Given the description of an element on the screen output the (x, y) to click on. 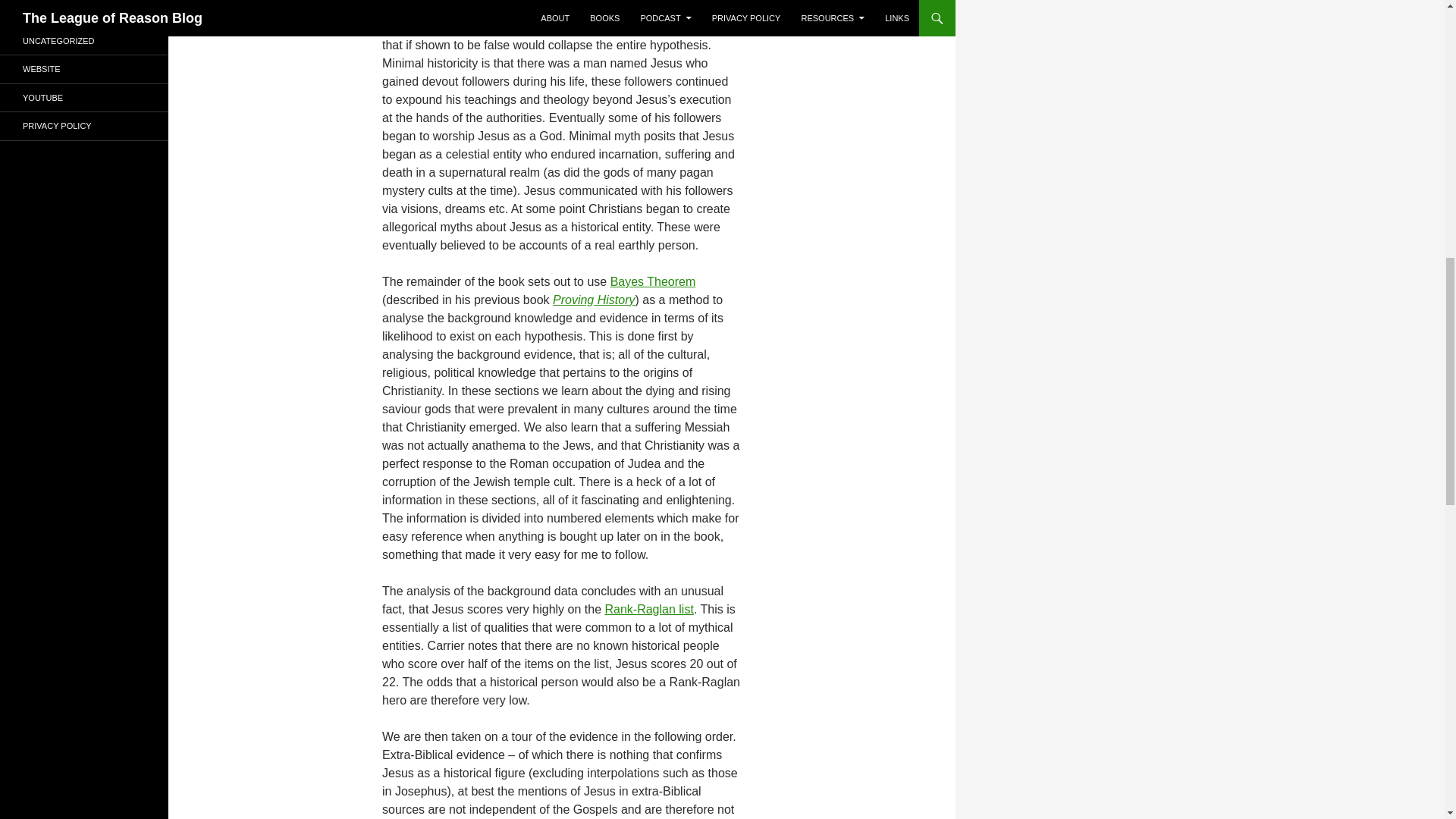
Bayes Theorem (652, 281)
Proving History (593, 299)
Rank-Raglan list (648, 608)
